Given the description of an element on the screen output the (x, y) to click on. 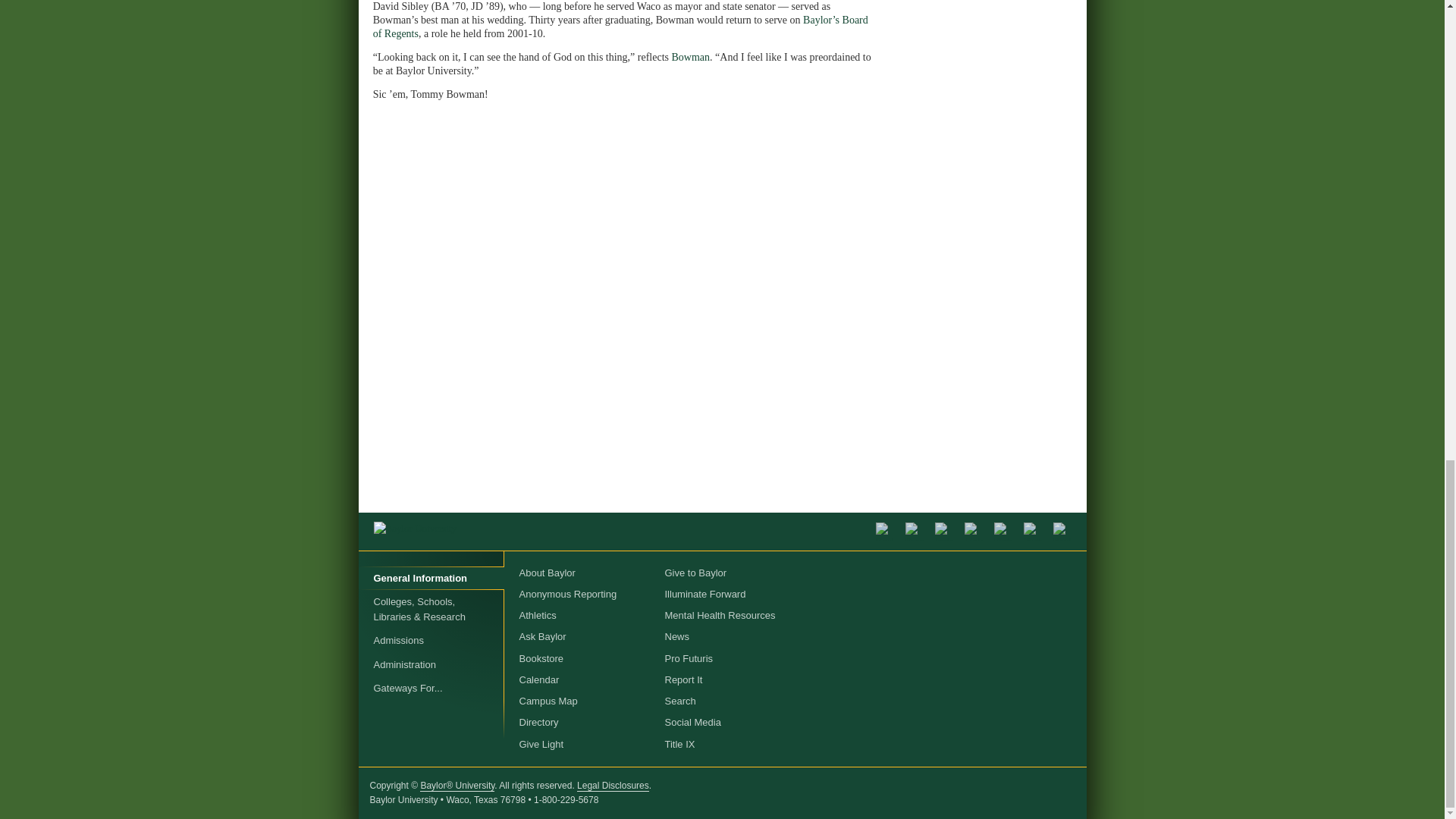
Bowman (690, 57)
